Given the description of an element on the screen output the (x, y) to click on. 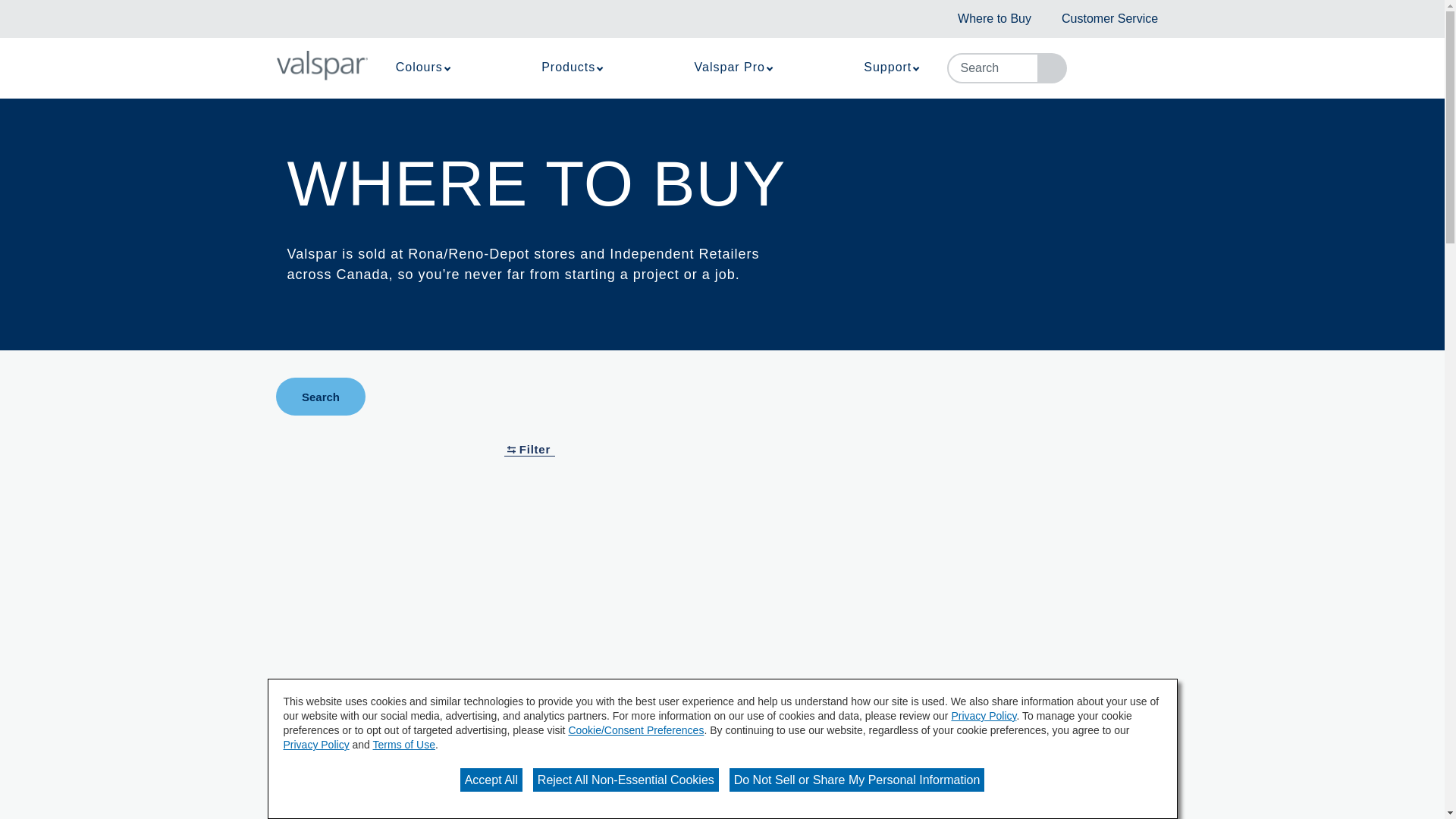
Where to Buy (994, 18)
Products (571, 67)
Products (571, 67)
Valspar Pro (733, 67)
Colours (421, 67)
Support (889, 67)
Valspar Pro (733, 67)
Colours (421, 67)
Support (889, 67)
Customer Service (1109, 18)
